Given the description of an element on the screen output the (x, y) to click on. 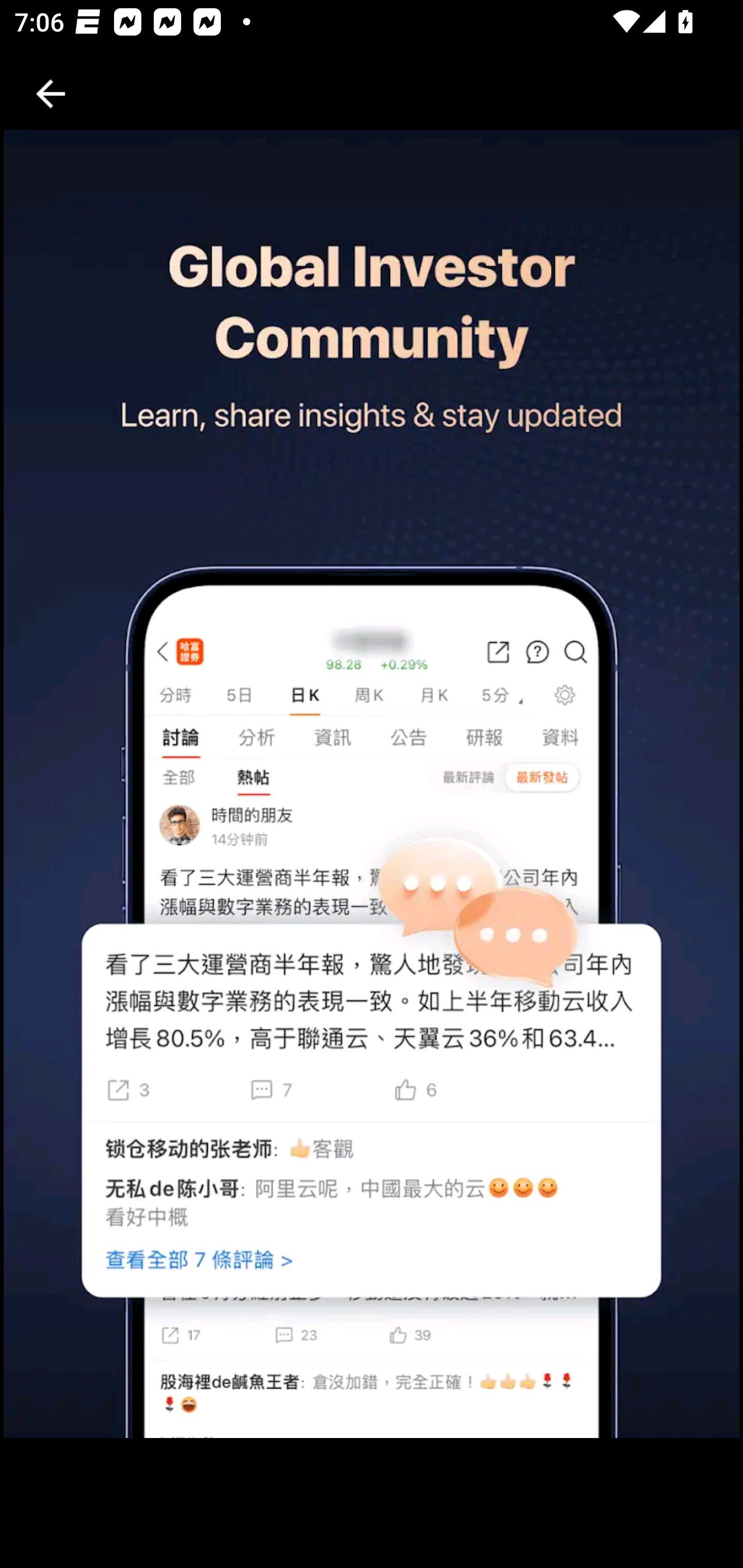
Back (50, 93)
